Given the description of an element on the screen output the (x, y) to click on. 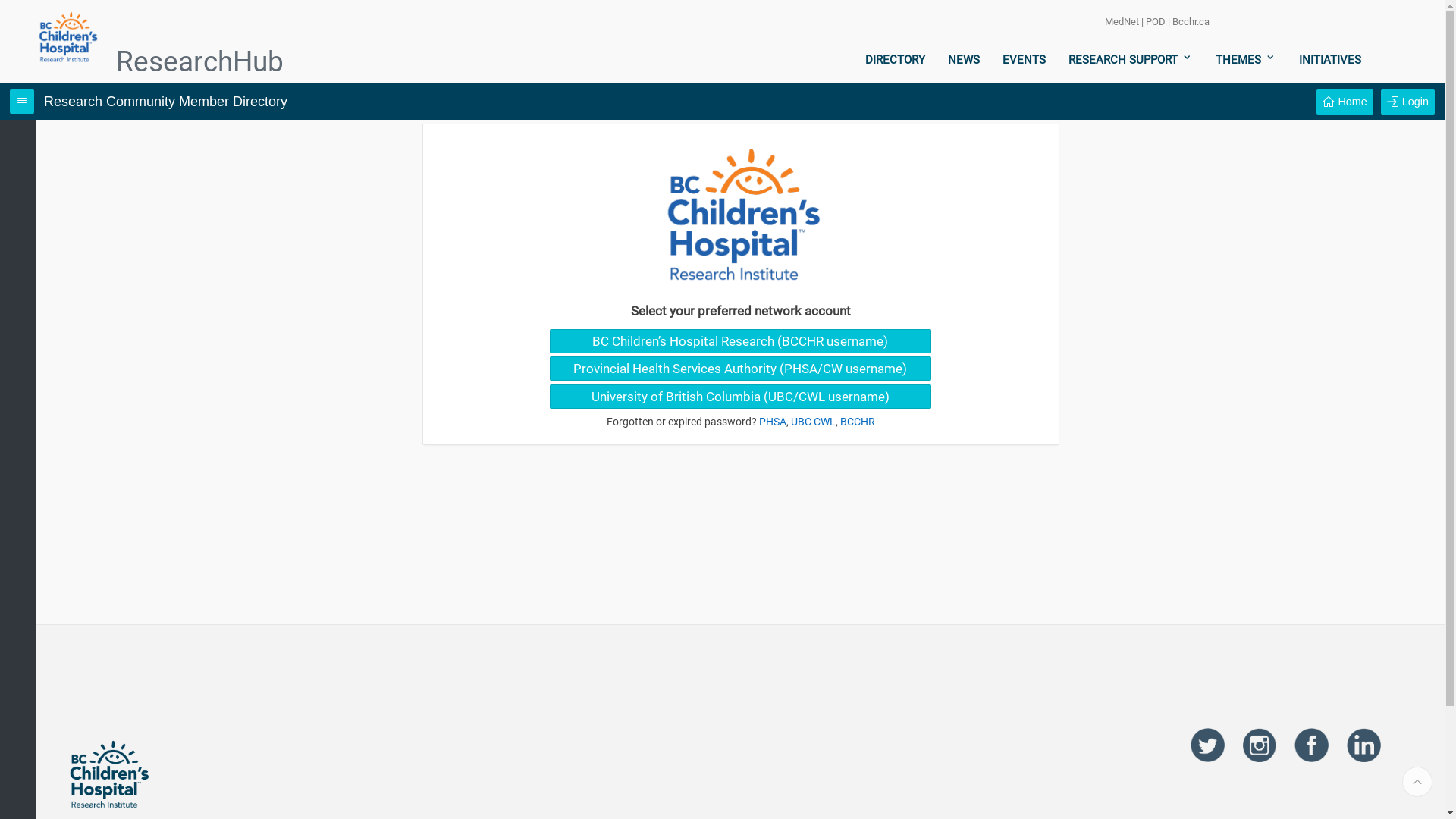
INITIATIVES Element type: text (1329, 59)
DIRECTORY Element type: text (894, 59)
RESEARCH SUPPORT Element type: text (1130, 59)
EVENTS Element type: text (1024, 59)
Home Element type: text (1344, 101)
NEWS Element type: text (963, 59)
Provincial Health Services Authority (PHSA/CW username) Element type: text (740, 368)
University of British Columbia (UBC/CWL username) Element type: text (740, 396)
POD Element type: text (1155, 21)
Research Community Member Directory Element type: text (165, 101)
Bcchr.ca Element type: text (1190, 21)
PHSA Element type: text (771, 421)
UBC CWL Element type: text (812, 421)
Login Element type: text (1407, 101)
Expand / Collapse Navigation Element type: hover (21, 101)
ResearchHub Element type: text (109, 61)
BCCHR Element type: text (857, 421)
MedNet Element type: text (1121, 21)
Start of page Element type: hover (1417, 781)
THEMES Element type: text (1245, 59)
